Given the description of an element on the screen output the (x, y) to click on. 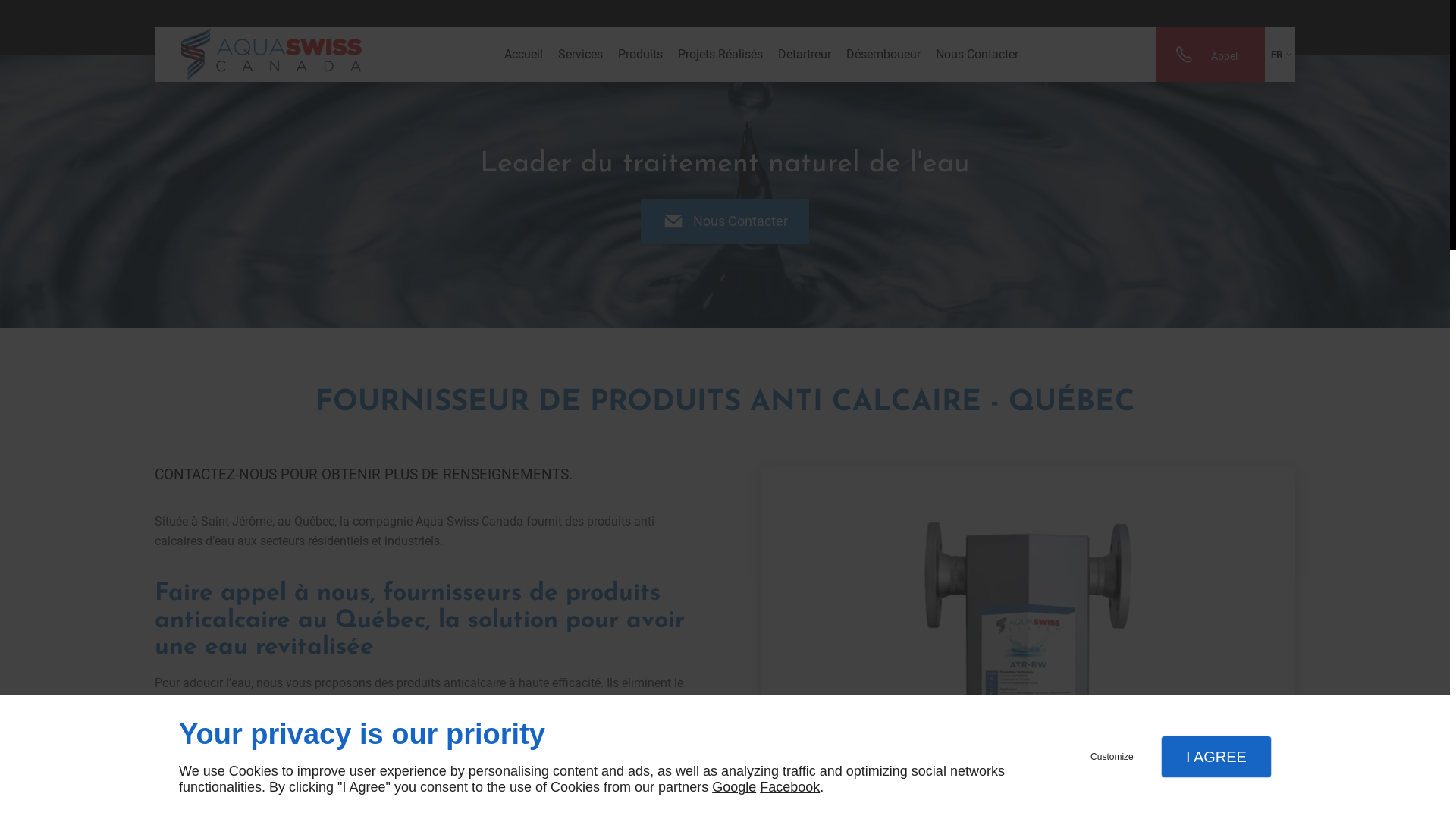
Produits Element type: text (640, 54)
Appel Element type: text (1210, 54)
Facebook Element type: text (789, 786)
Accueil Element type: text (523, 54)
Nous Contacter Element type: text (976, 54)
Nous Contacter Element type: text (724, 221)
Services Element type: text (580, 54)
Google Element type: text (734, 786)
Detartreur Element type: text (804, 54)
FR Element type: text (1279, 54)
